Given the description of an element on the screen output the (x, y) to click on. 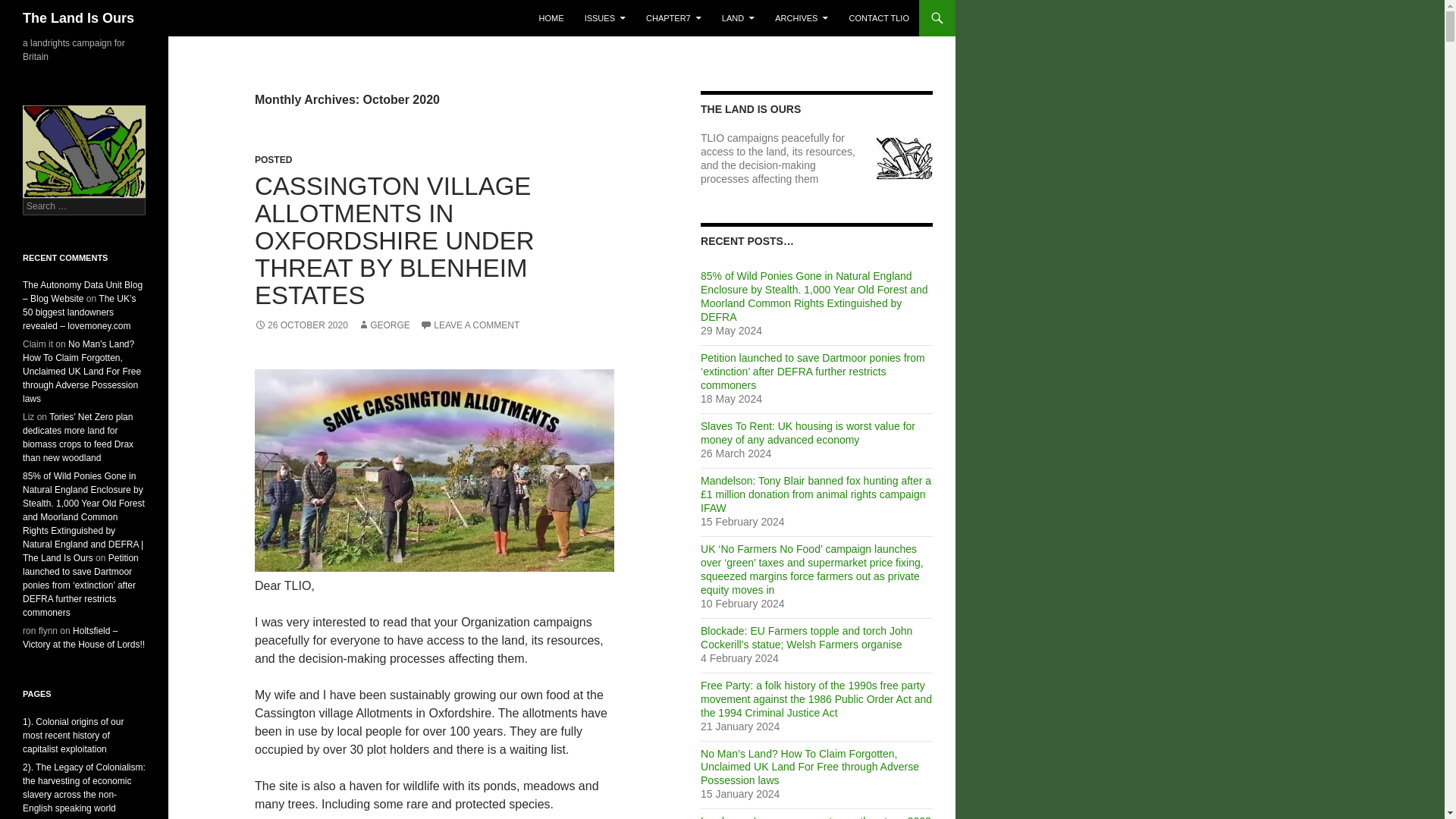
ARCHIVES (801, 18)
ISSUES (604, 18)
LAND (737, 18)
HOME (551, 18)
CHAPTER7 (673, 18)
The Land Is Ours (78, 18)
